Given the description of an element on the screen output the (x, y) to click on. 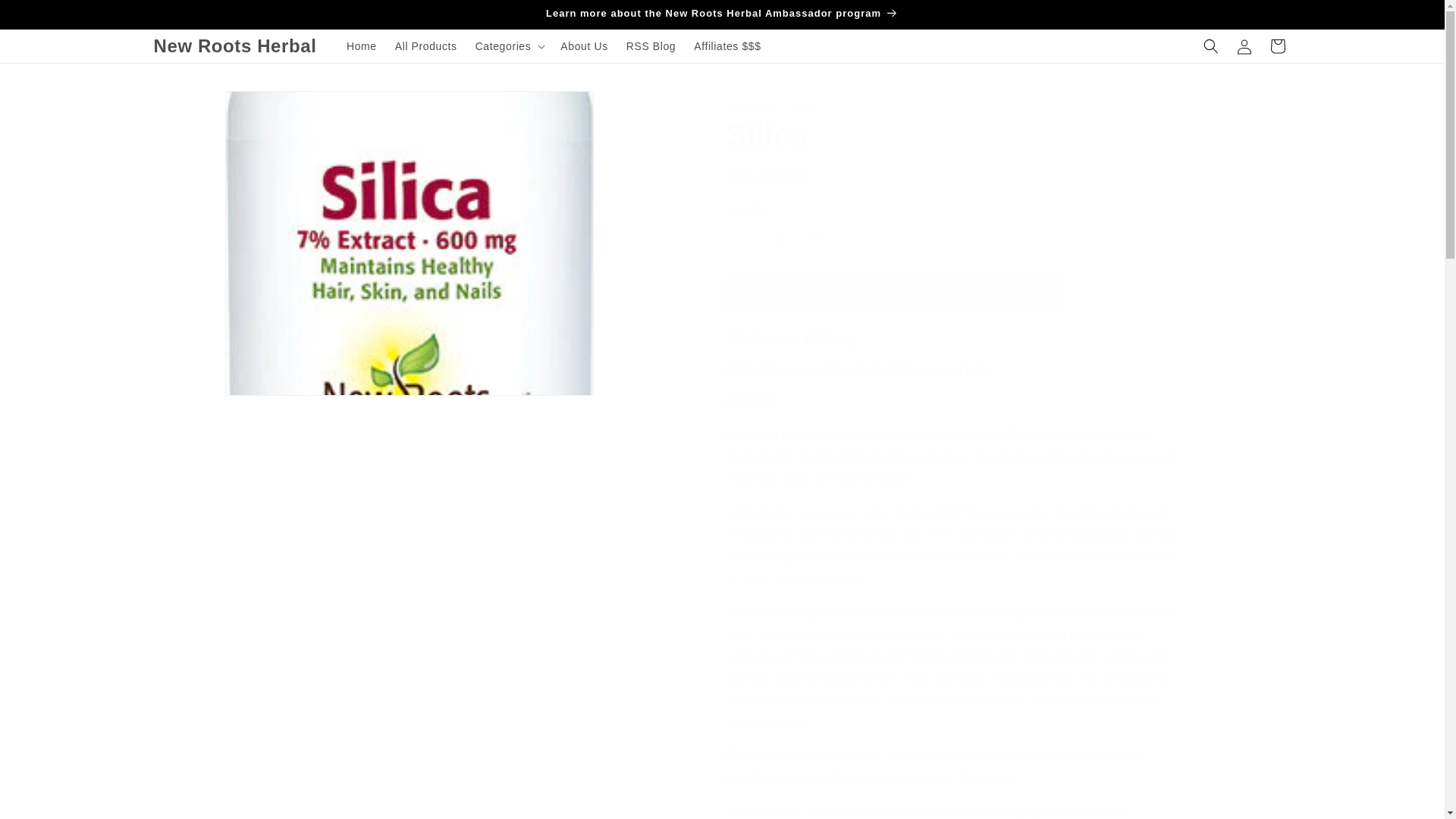
New Roots Herbal (234, 46)
Home (361, 46)
Skip to content (45, 17)
1 (780, 239)
All Products (425, 46)
Learn more about the New Roots Herbal Ambassador program (721, 14)
